Given the description of an element on the screen output the (x, y) to click on. 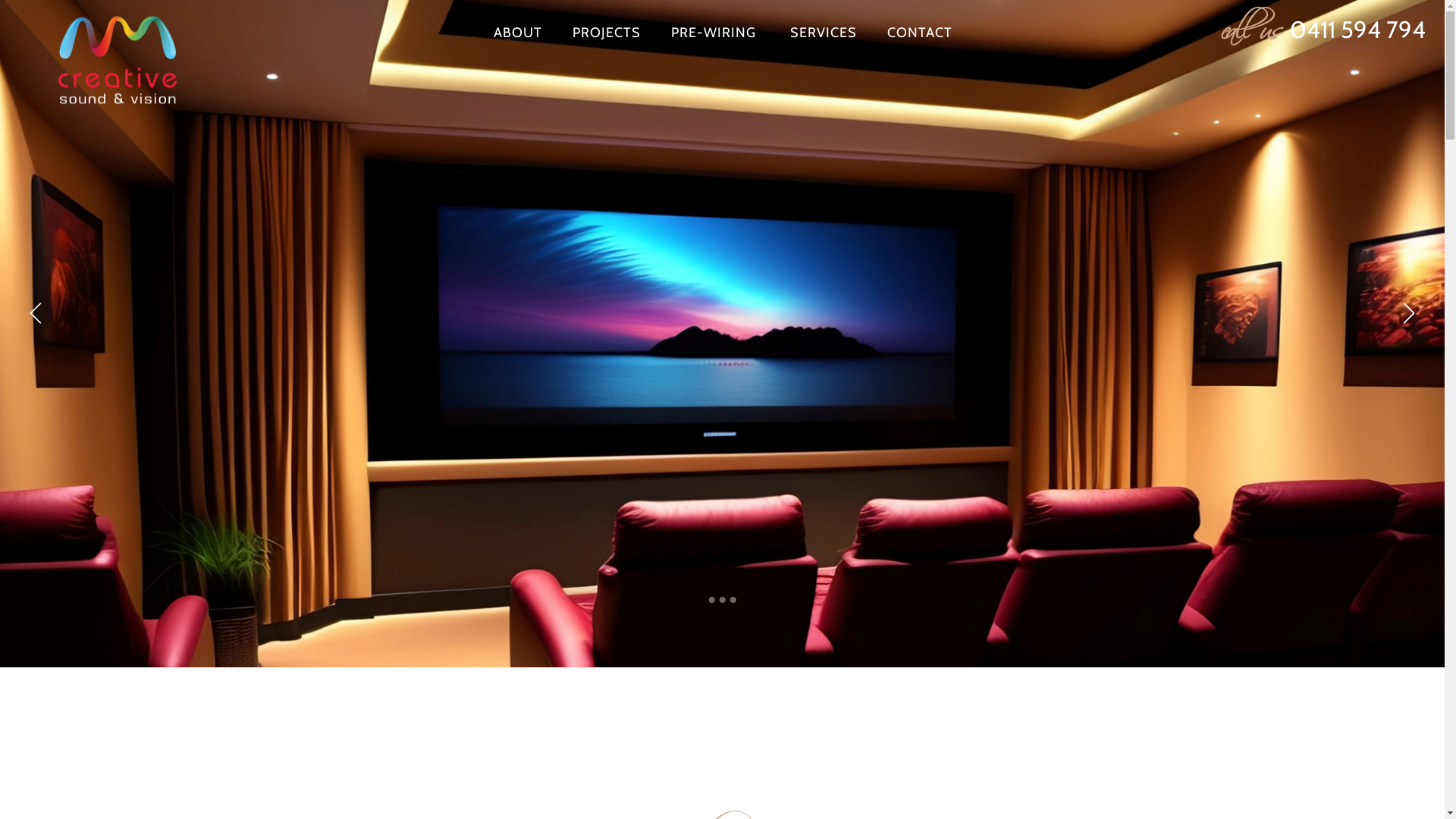
PROJECTS Element type: text (605, 32)
ABOUT Element type: text (516, 32)
SERVICES Element type: text (820, 32)
0411 594 794 Element type: text (1357, 29)
CONTACT Element type: text (919, 32)
PRE-WIRING Element type: text (712, 32)
